Given the description of an element on the screen output the (x, y) to click on. 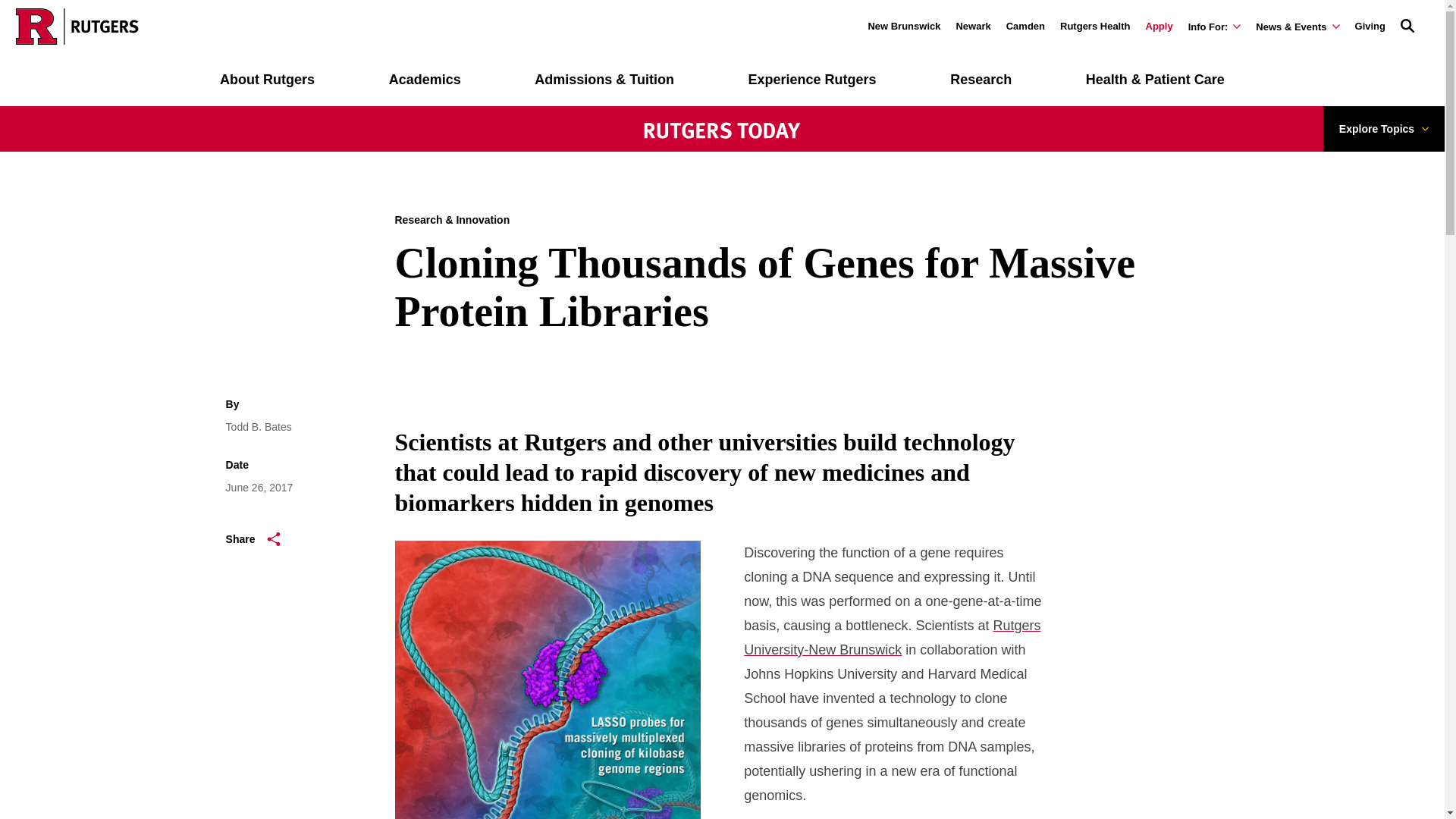
New Brunswick (903, 26)
Open Search (1406, 24)
Newark (972, 26)
Academics (424, 79)
Apply (1158, 26)
Open Search (1406, 26)
Camden (1025, 26)
Rutgers Health (1094, 26)
Info For: (1214, 26)
About Rutgers (266, 79)
Giving (1370, 26)
